Given the description of an element on the screen output the (x, y) to click on. 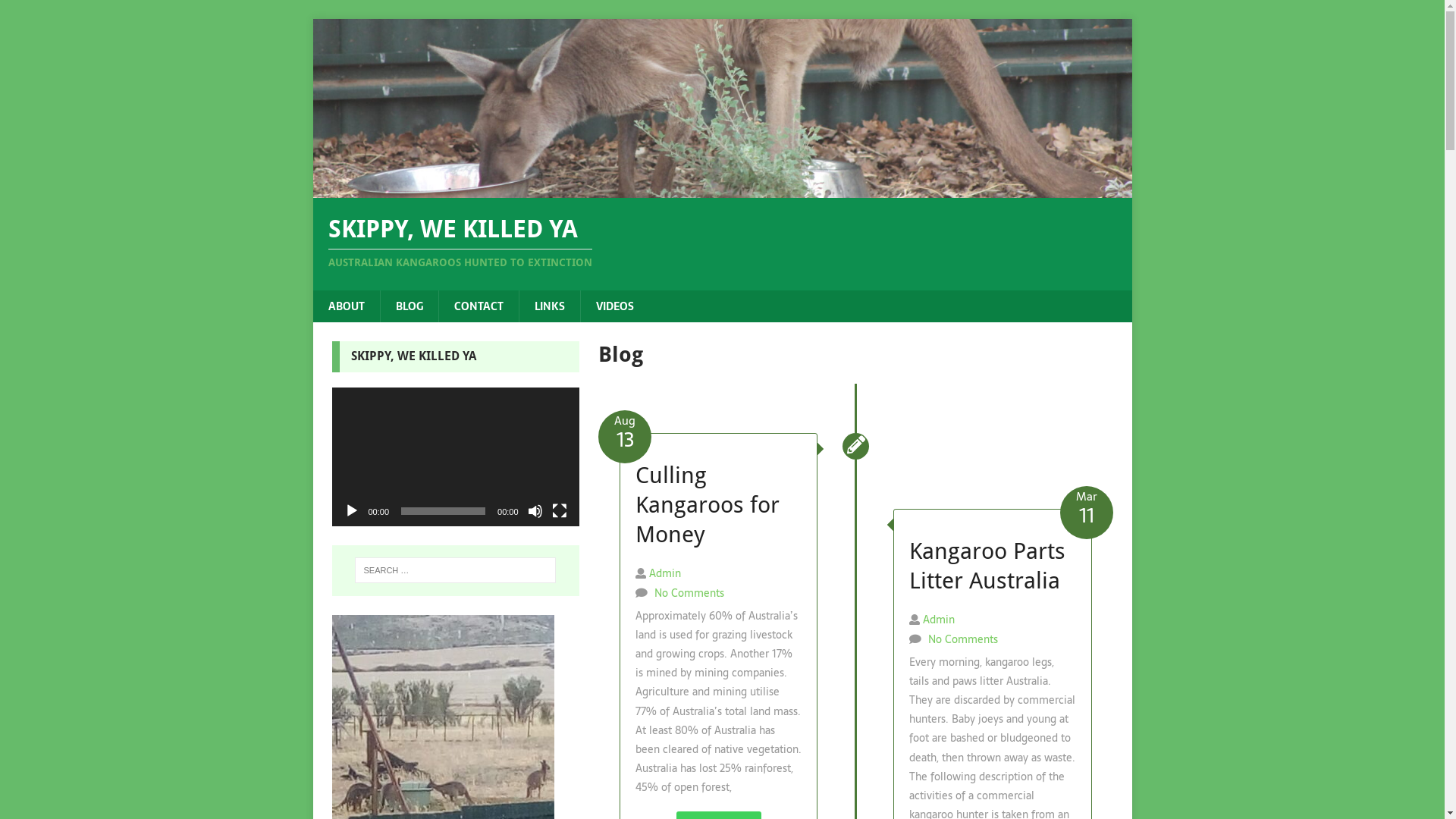
Mute Element type: hover (534, 510)
Admin Element type: text (938, 619)
Skippy, We Killed Ya Element type: hover (721, 189)
Culling Kangaroos for Money Element type: text (707, 504)
Search Element type: text (56, 11)
VIDEOS Element type: text (613, 306)
CONTACT Element type: text (478, 306)
BLOG Element type: text (408, 306)
Admin Element type: text (664, 572)
LINKS Element type: text (549, 306)
No Comments Element type: text (962, 638)
Play Element type: hover (351, 510)
Fullscreen Element type: hover (559, 510)
No Comments Element type: text (689, 592)
ABOUT Element type: text (345, 306)
Kangaroo Parts Litter Australia Element type: text (987, 565)
